Given the description of an element on the screen output the (x, y) to click on. 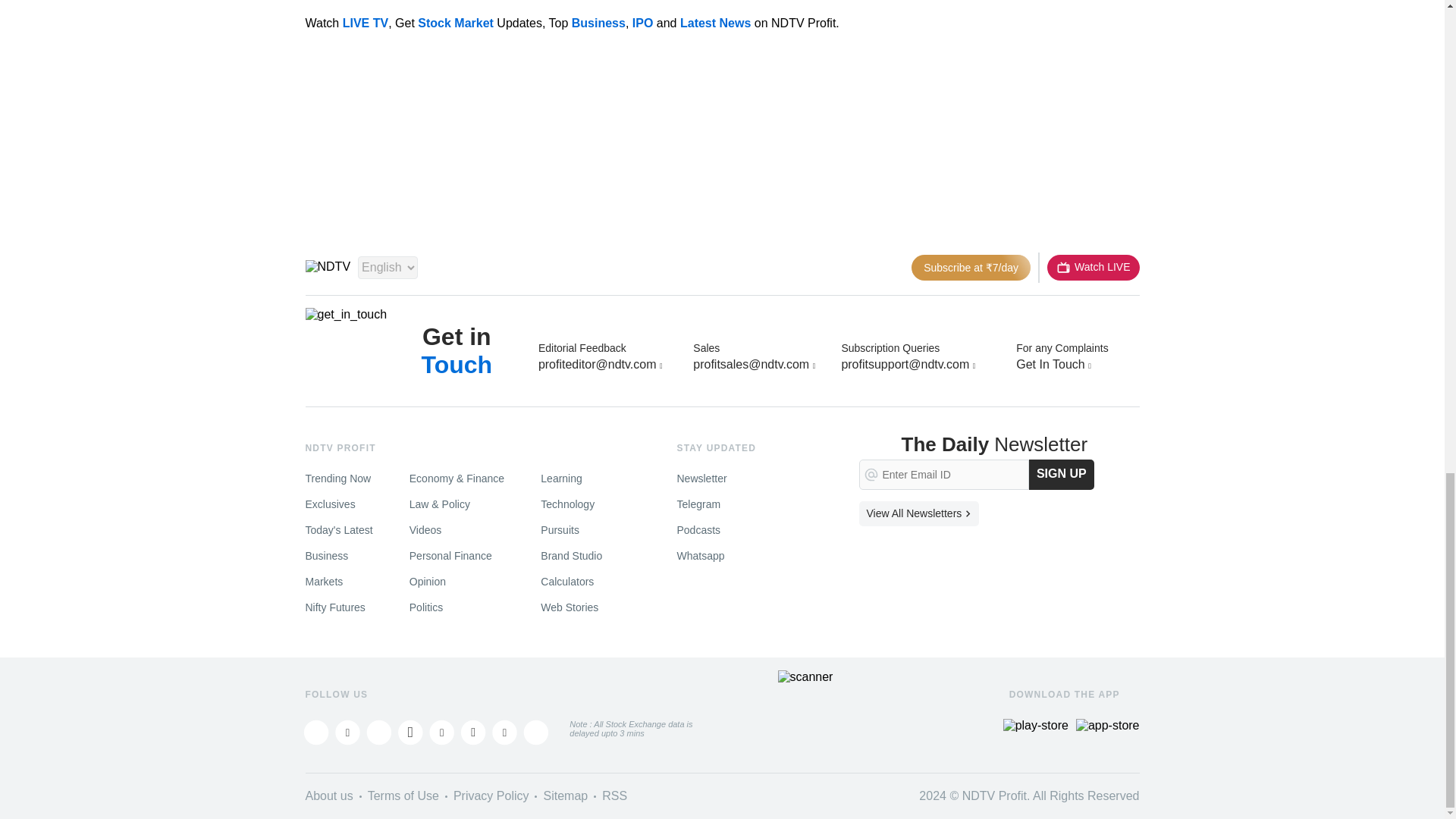
Live TV (1092, 266)
